Given the description of an element on the screen output the (x, y) to click on. 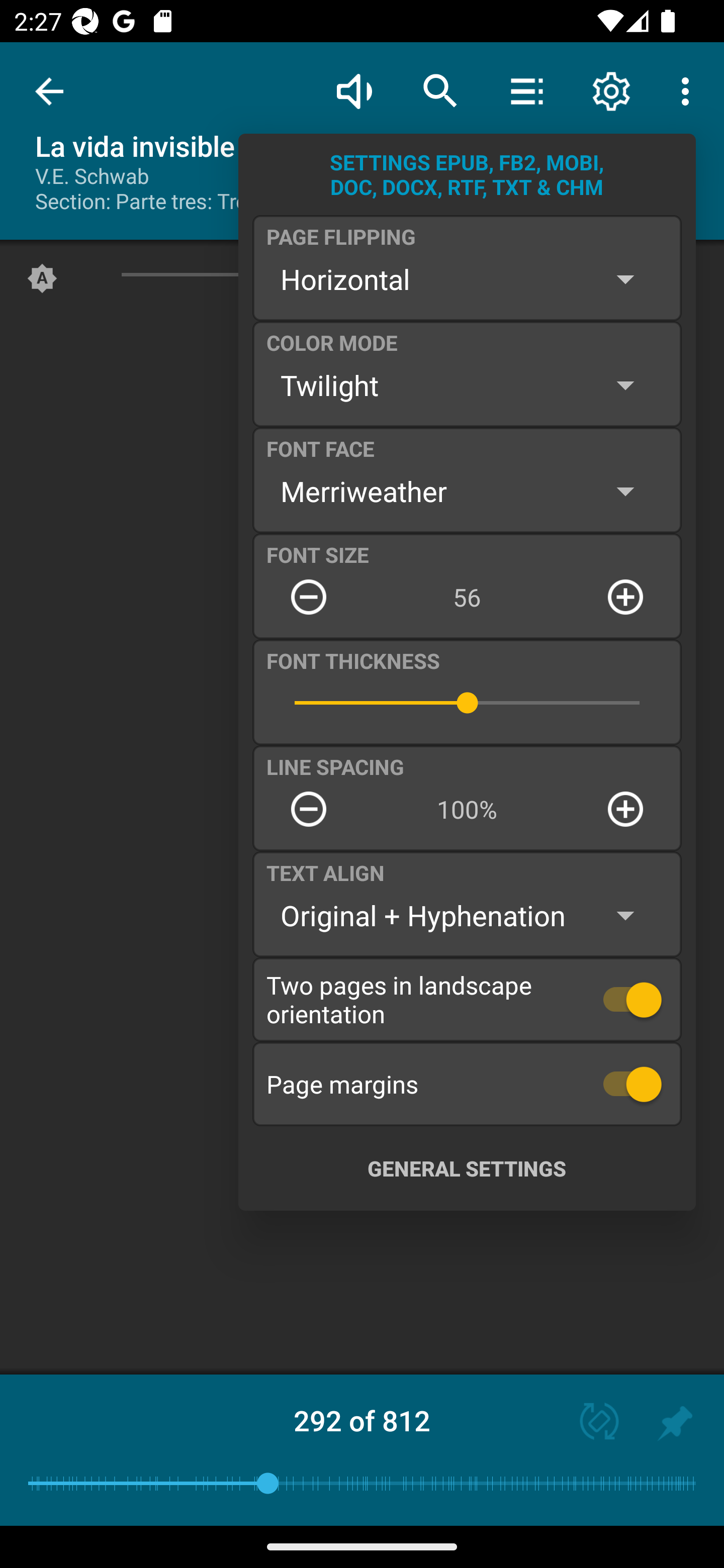
Horizontal (466, 278)
Twilight (466, 384)
Merriweather (466, 490)
Original + Hyphenation (466, 915)
Two pages in landscape orientation (467, 999)
Page margins (467, 1083)
GENERAL SETTINGS (466, 1167)
